Given the description of an element on the screen output the (x, y) to click on. 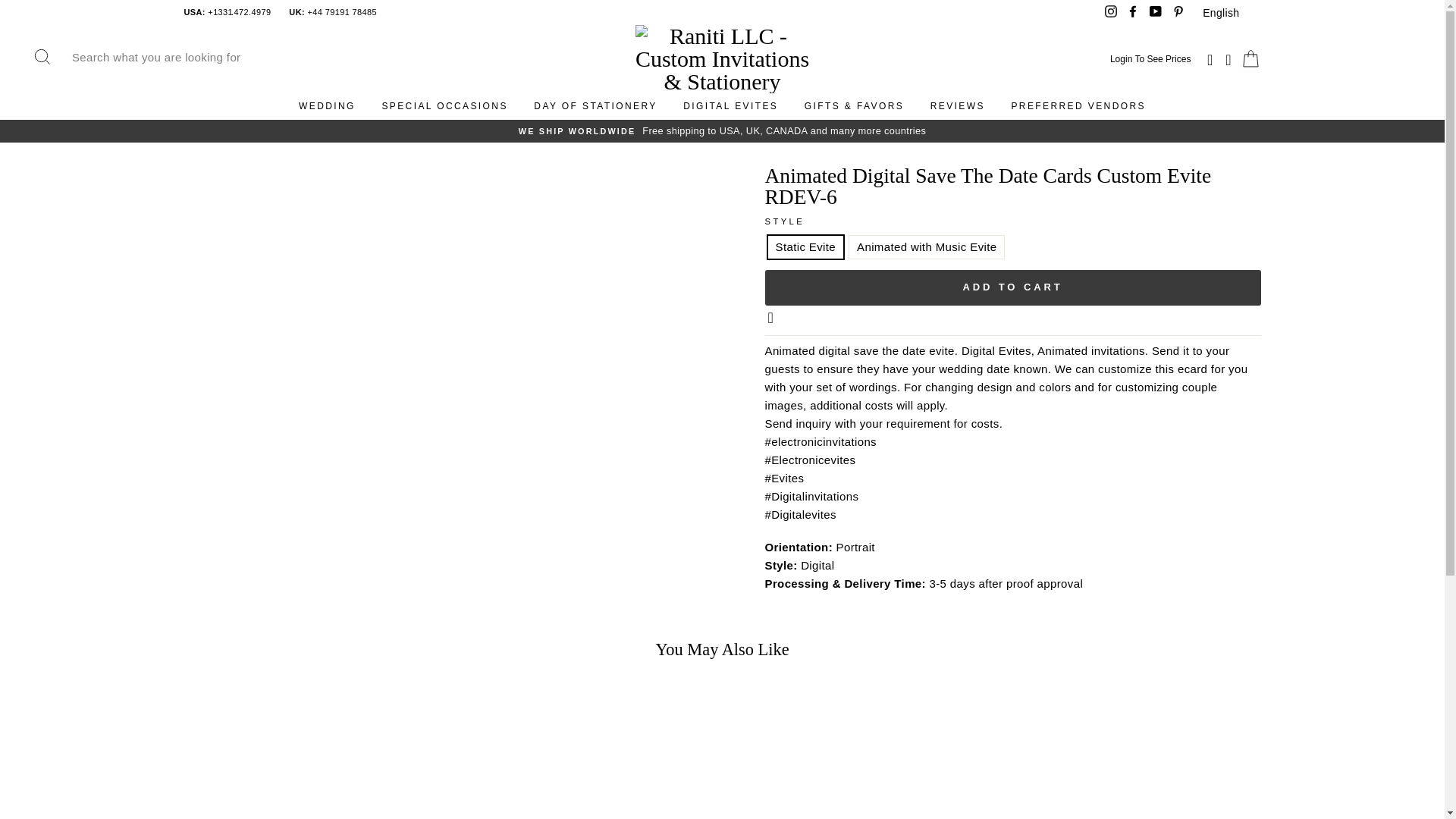
Share by Email (771, 318)
